Given the description of an element on the screen output the (x, y) to click on. 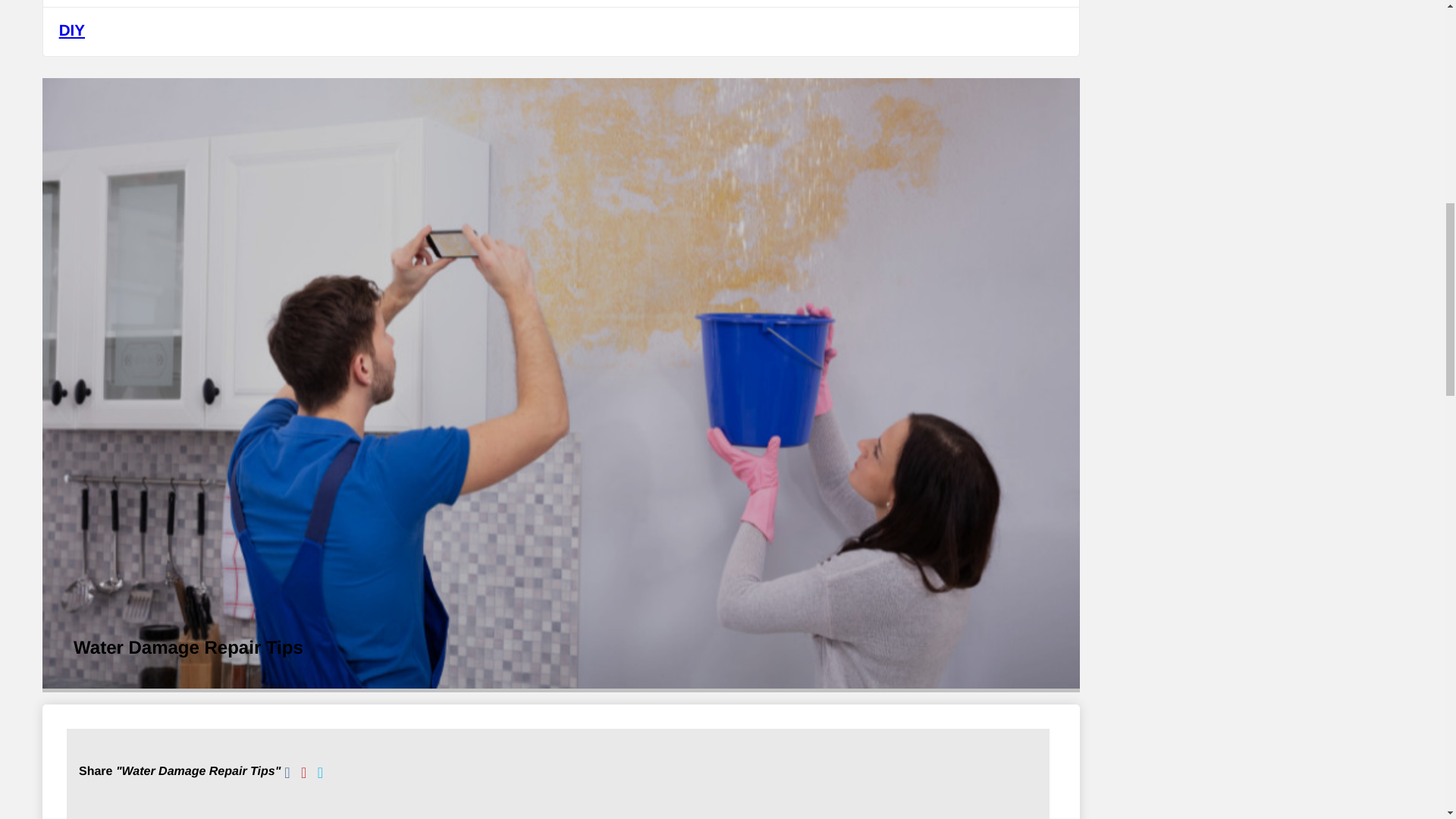
Share on Facebook (286, 773)
Tweet on Twitter (320, 773)
DIY (560, 31)
Pin on Pinterest (303, 773)
